Given the description of an element on the screen output the (x, y) to click on. 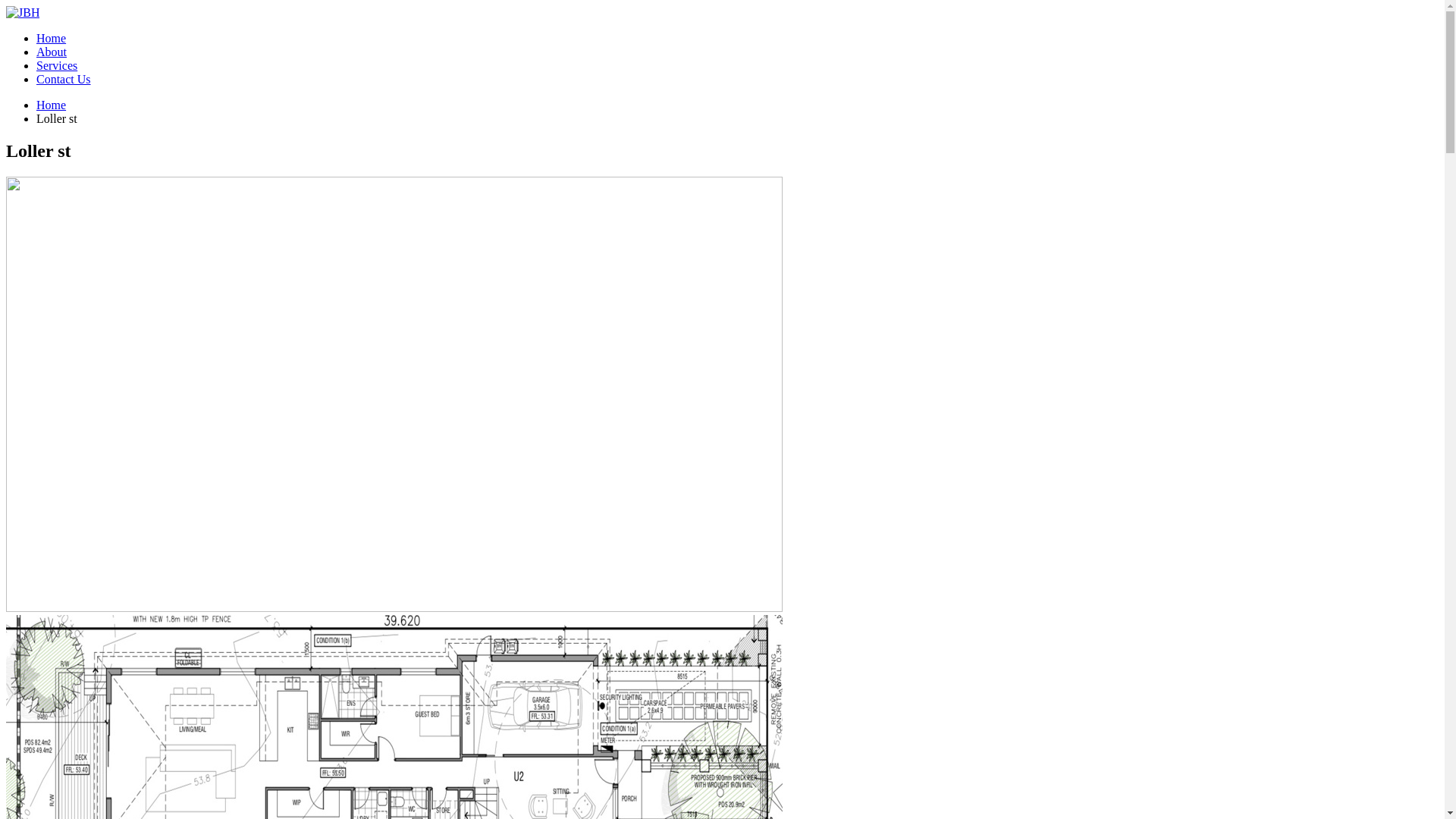
Home Element type: text (50, 104)
About Element type: text (51, 51)
JBH - JBH COMPANY PT LTD Element type: hover (22, 12)
Contact Us Element type: text (63, 78)
Home Element type: text (50, 37)
Services Element type: text (56, 65)
